Given the description of an element on the screen output the (x, y) to click on. 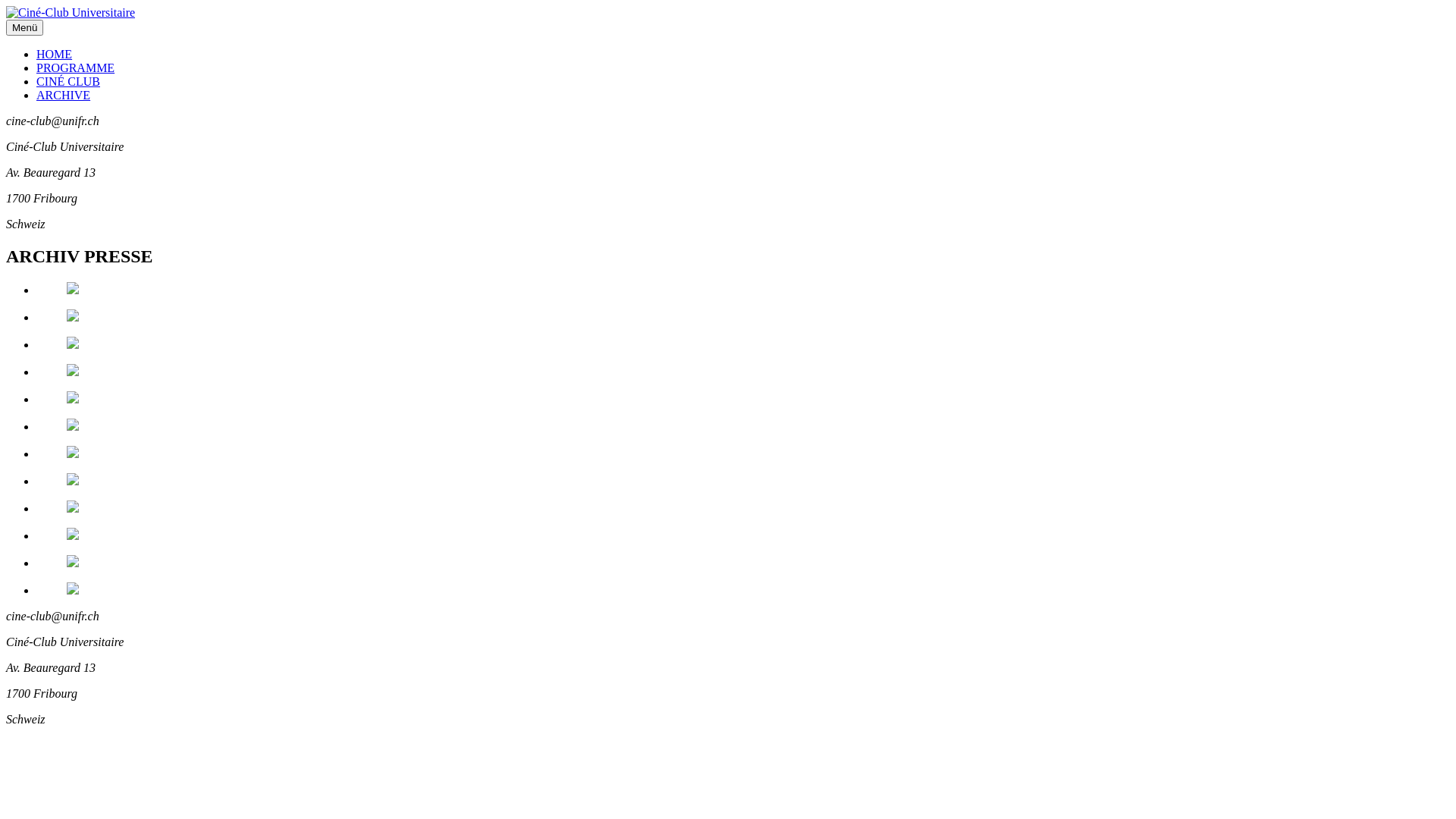
ARCHIVE Element type: text (63, 94)
PROGRAMME Element type: text (75, 67)
HOME Element type: text (54, 53)
